Given the description of an element on the screen output the (x, y) to click on. 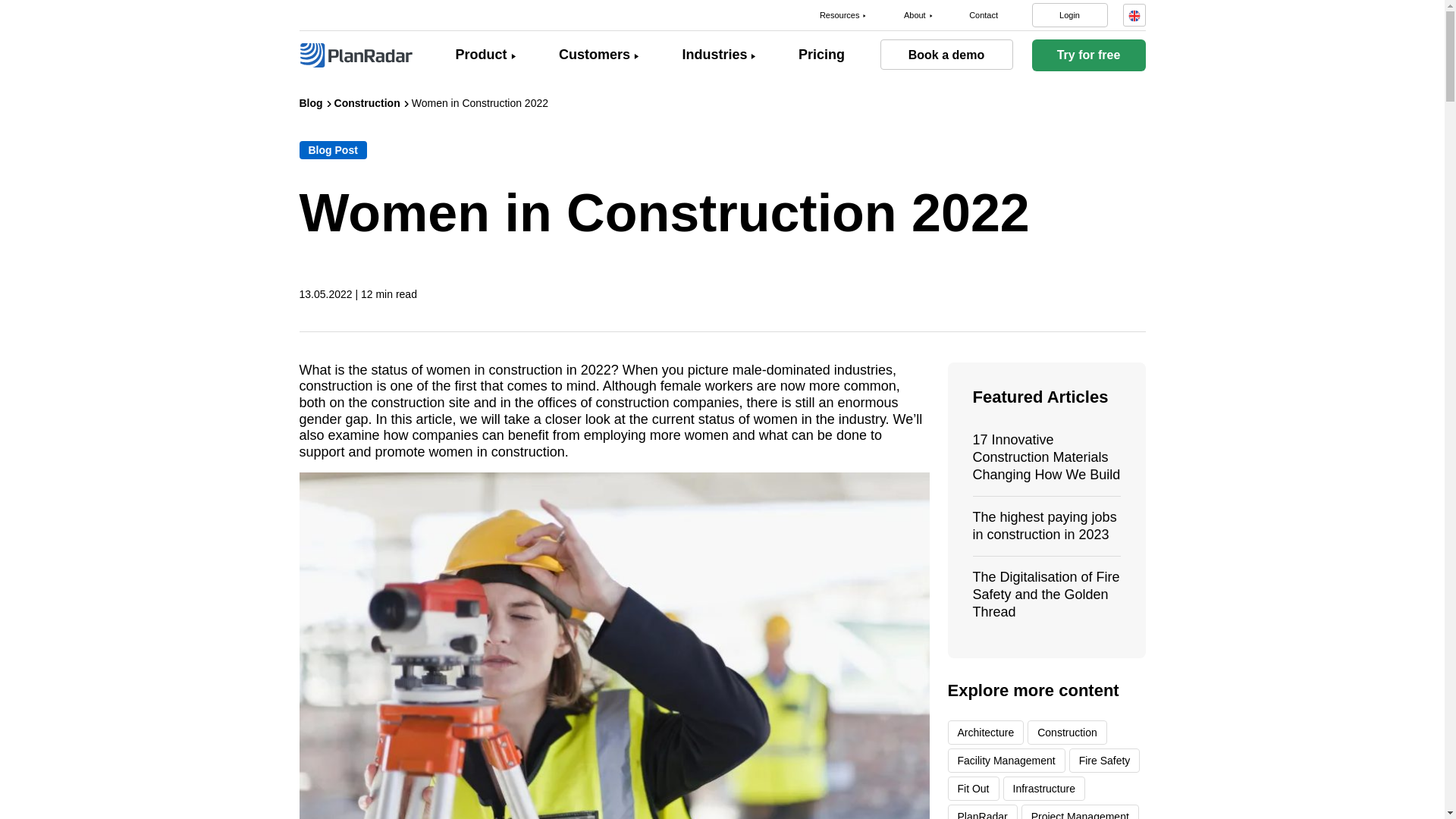
17 Innovative Construction Materials Changing How We Build (1045, 457)
Contact (983, 15)
Resources (839, 15)
Customers (594, 54)
The highest paying jobs in construction in 2023 (1044, 525)
Industries (713, 54)
Login (1068, 15)
The Digitalisation of Fire Safety and the Golden Thread (1045, 594)
Product (480, 54)
